Given the description of an element on the screen output the (x, y) to click on. 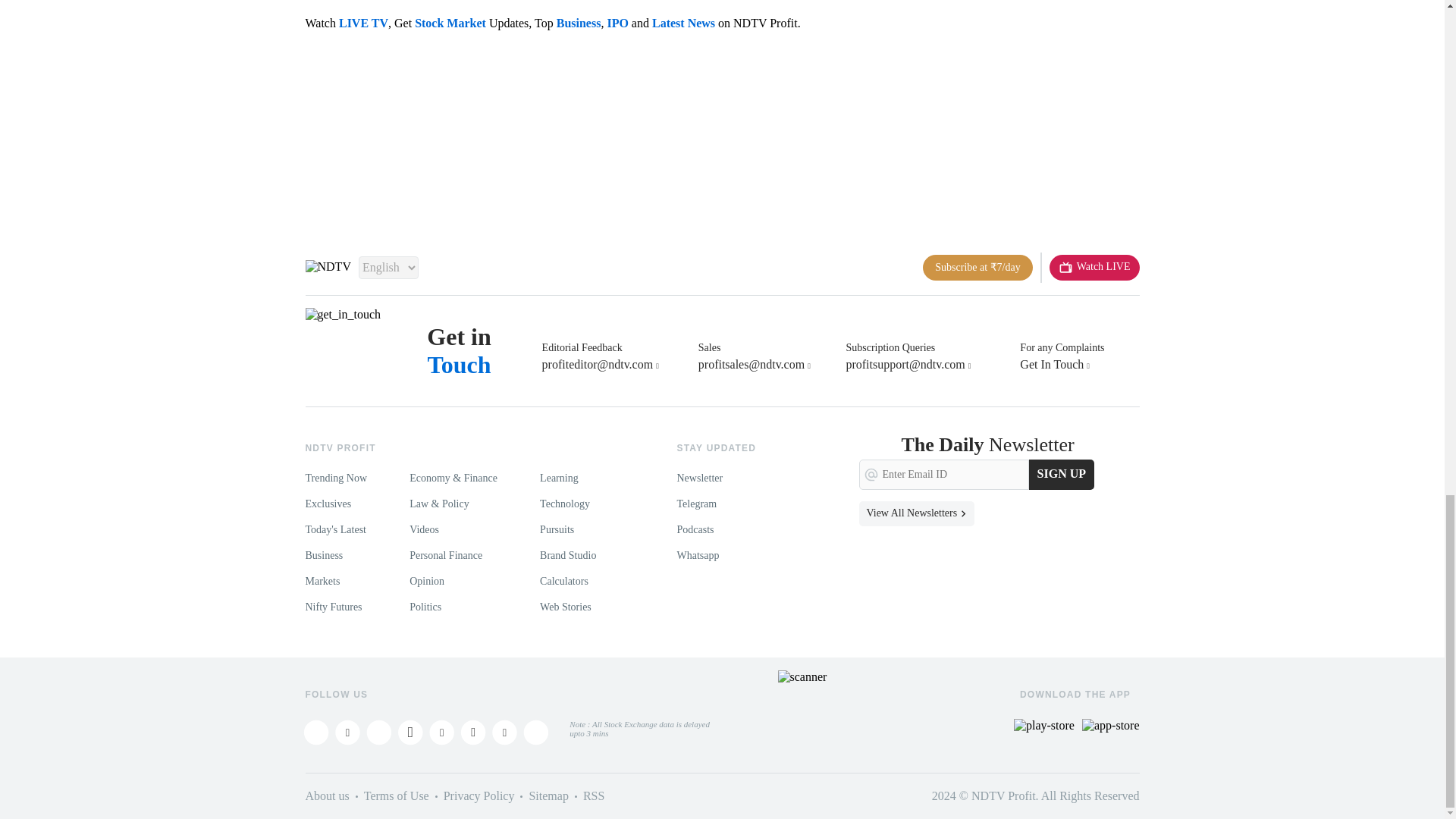
Live TV (1094, 266)
